Given the description of an element on the screen output the (x, y) to click on. 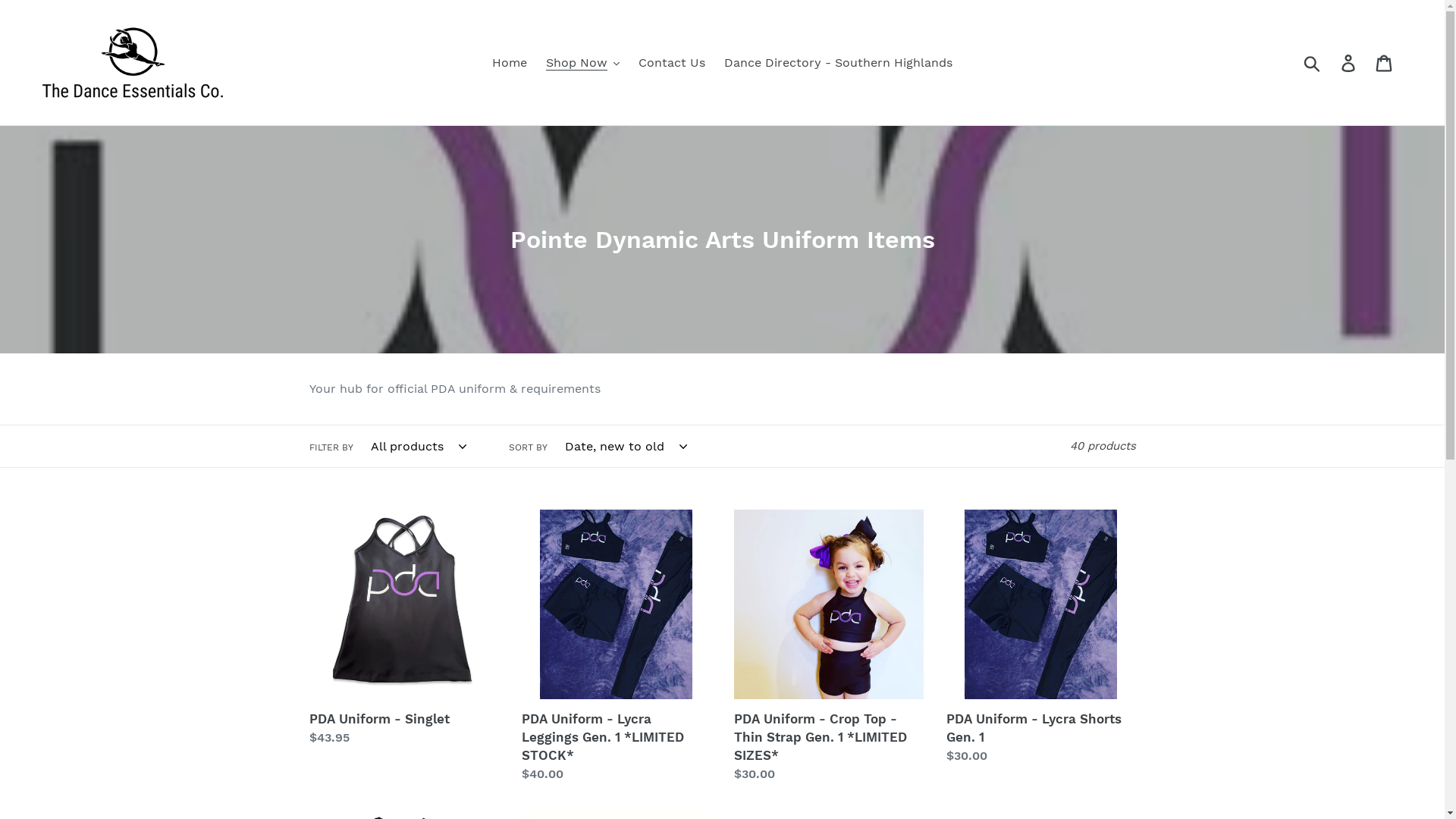
Dance Directory - Southern Highlands Element type: text (838, 62)
PDA Uniform - Singlet Element type: text (403, 627)
Home Element type: text (509, 62)
Contact Us Element type: text (671, 62)
Cart Element type: text (1384, 62)
PDA Uniform - Lycra Shorts Gen. 1 Element type: text (1040, 637)
PDA Uniform - Lycra Leggings Gen. 1 *LIMITED STOCK* Element type: text (616, 646)
PDA Uniform - Crop Top - Thin Strap Gen. 1 *LIMITED SIZES* Element type: text (828, 646)
Submit Element type: text (1312, 62)
Log in Element type: text (1349, 62)
